Given the description of an element on the screen output the (x, y) to click on. 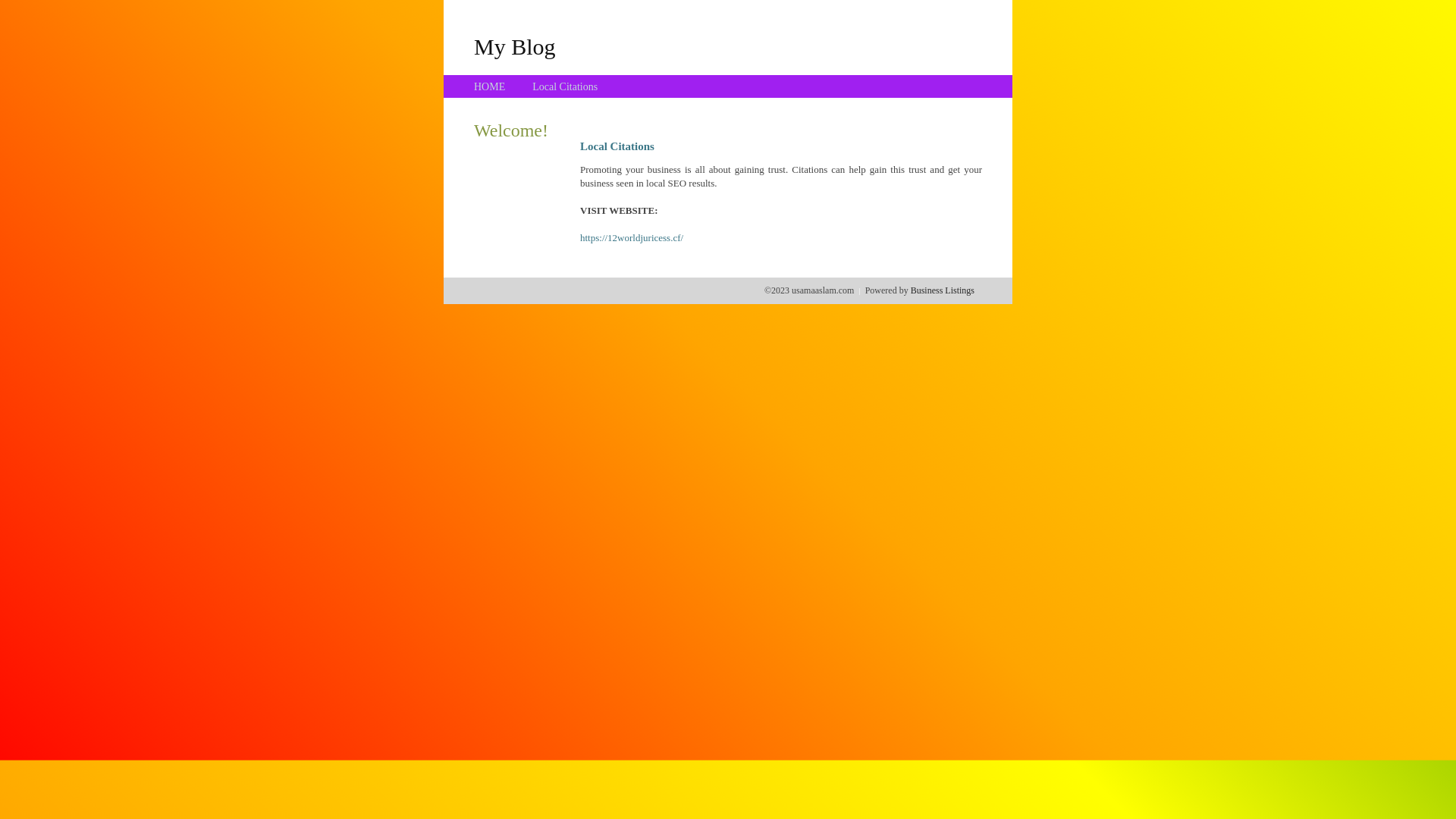
HOME Element type: text (489, 86)
Local Citations Element type: text (564, 86)
My Blog Element type: text (514, 46)
https://12worldjuricess.cf/ Element type: text (631, 237)
Business Listings Element type: text (942, 290)
